Given the description of an element on the screen output the (x, y) to click on. 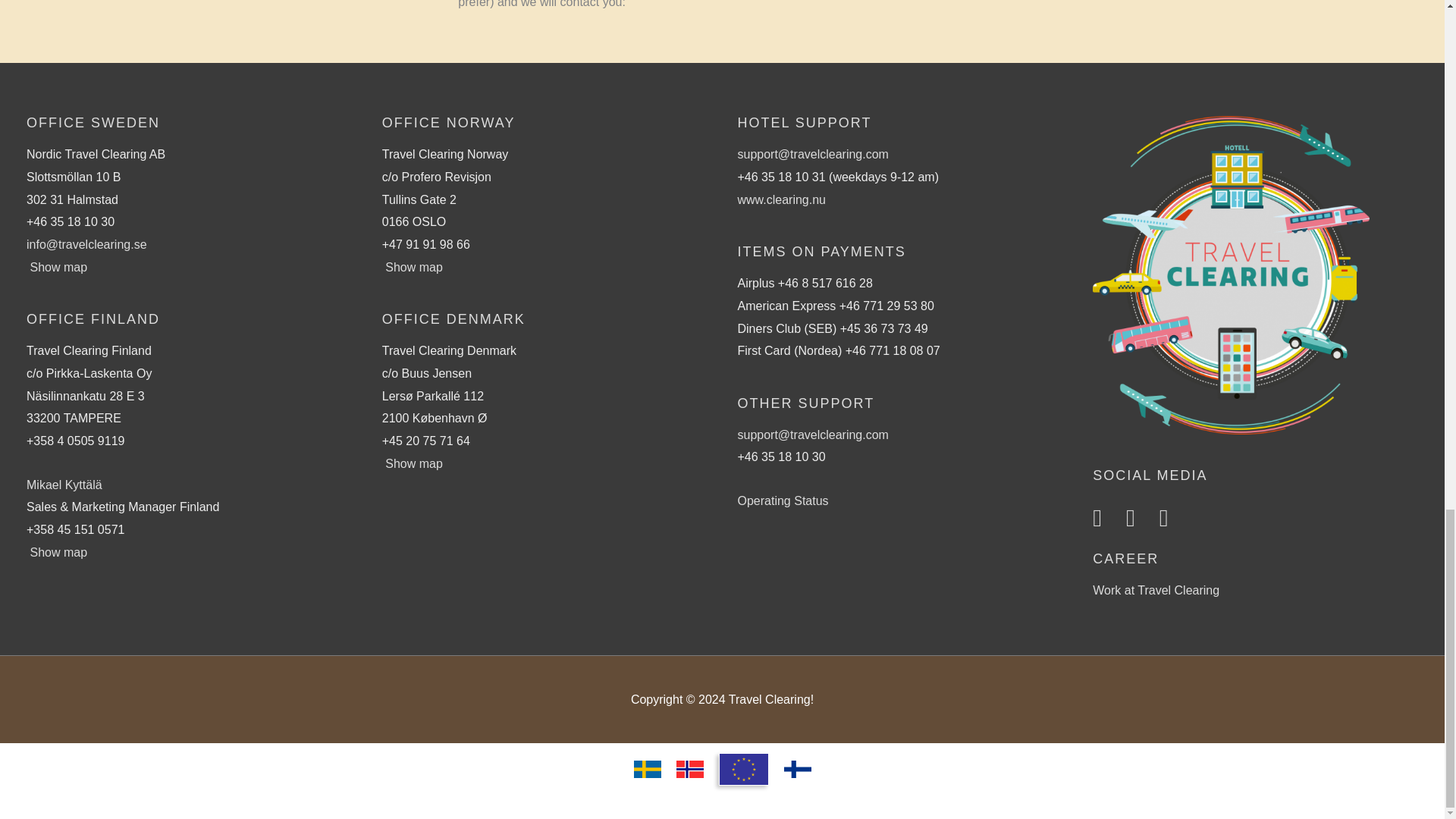
Show map (413, 267)
Operating Status (782, 500)
Show map (58, 552)
www.clearing.nu (780, 199)
Show map (58, 267)
Show map (413, 463)
